Given the description of an element on the screen output the (x, y) to click on. 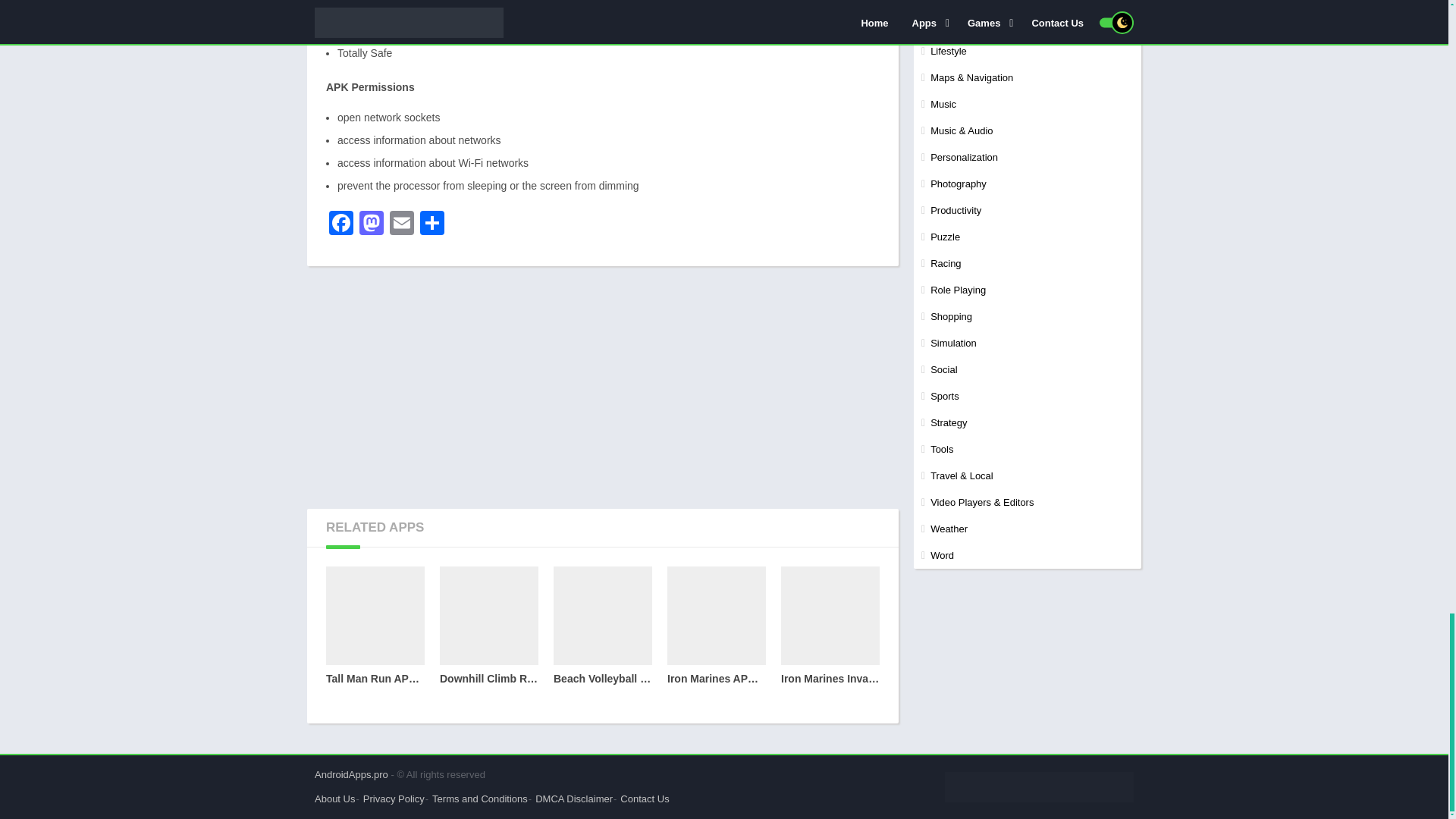
Email (401, 224)
Facebook (341, 224)
Mastodon (371, 224)
